Given the description of an element on the screen output the (x, y) to click on. 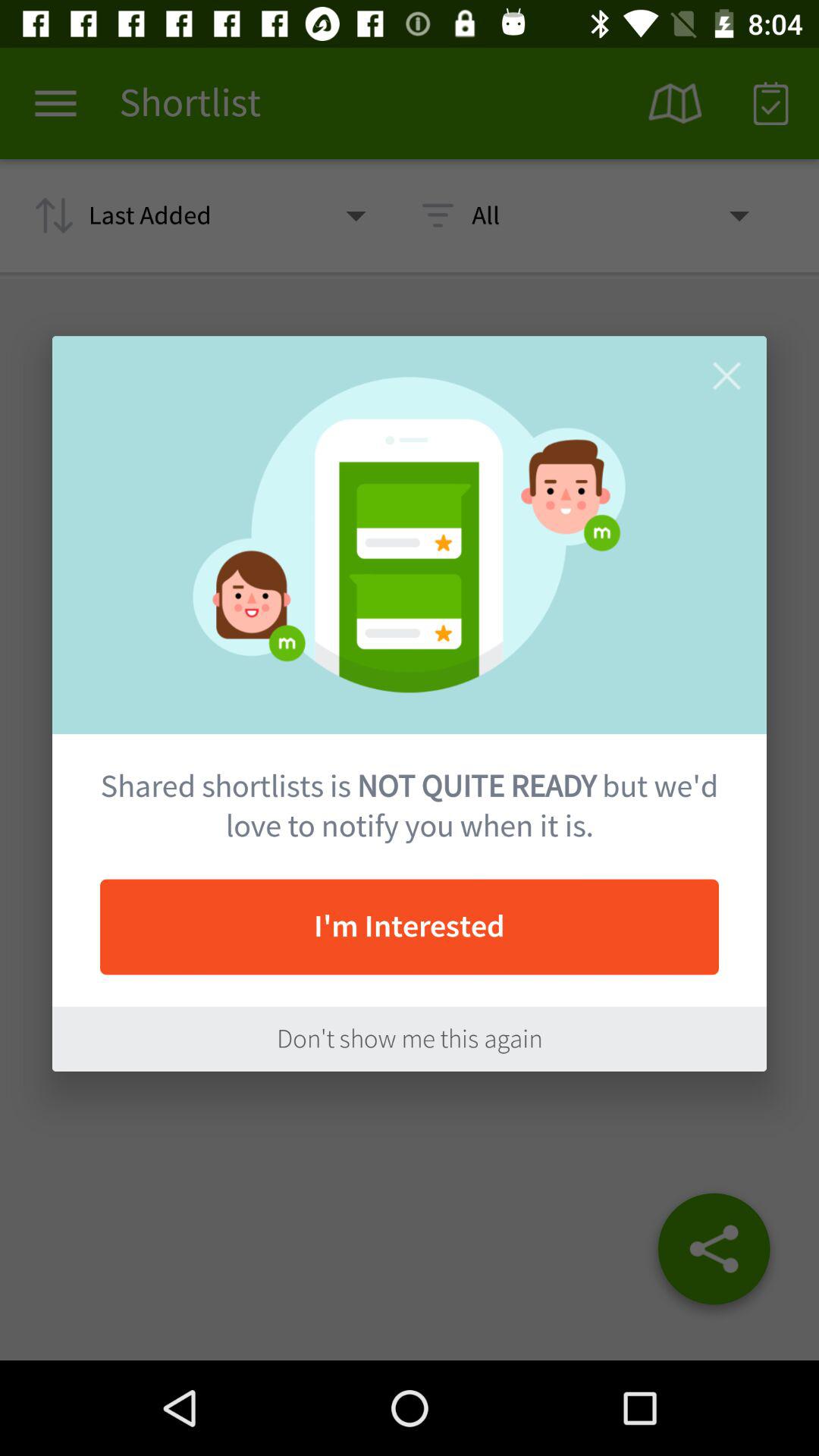
select the close bar (726, 375)
